Given the description of an element on the screen output the (x, y) to click on. 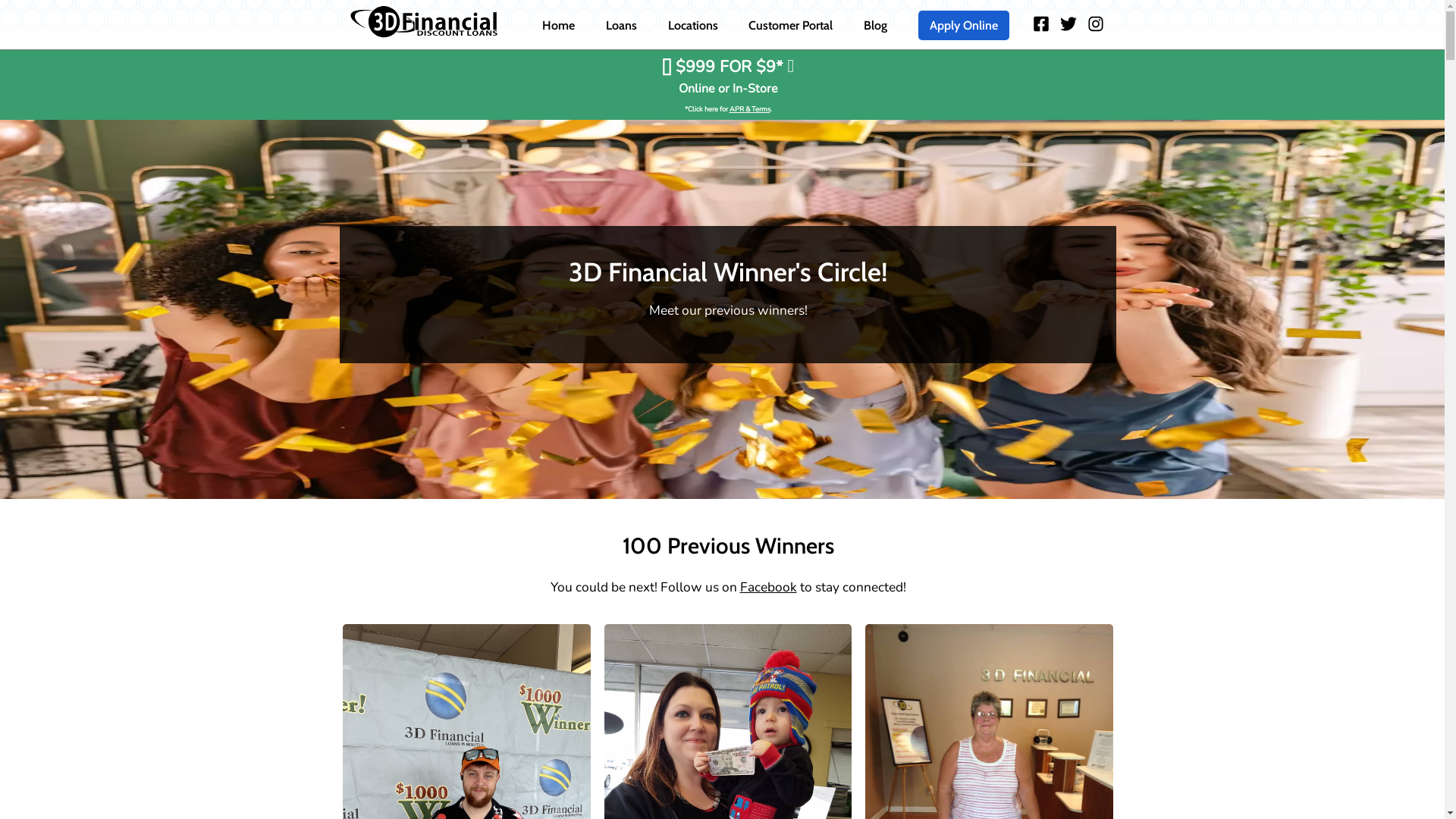
Customer Portal Element type: text (790, 23)
Locations Element type: text (692, 23)
Apply Online Element type: text (963, 25)
APR & Terms Element type: text (749, 108)
Blog Element type: text (875, 23)
Facebook Element type: text (768, 586)
Home Element type: text (558, 23)
Loans Element type: text (621, 23)
